Given the description of an element on the screen output the (x, y) to click on. 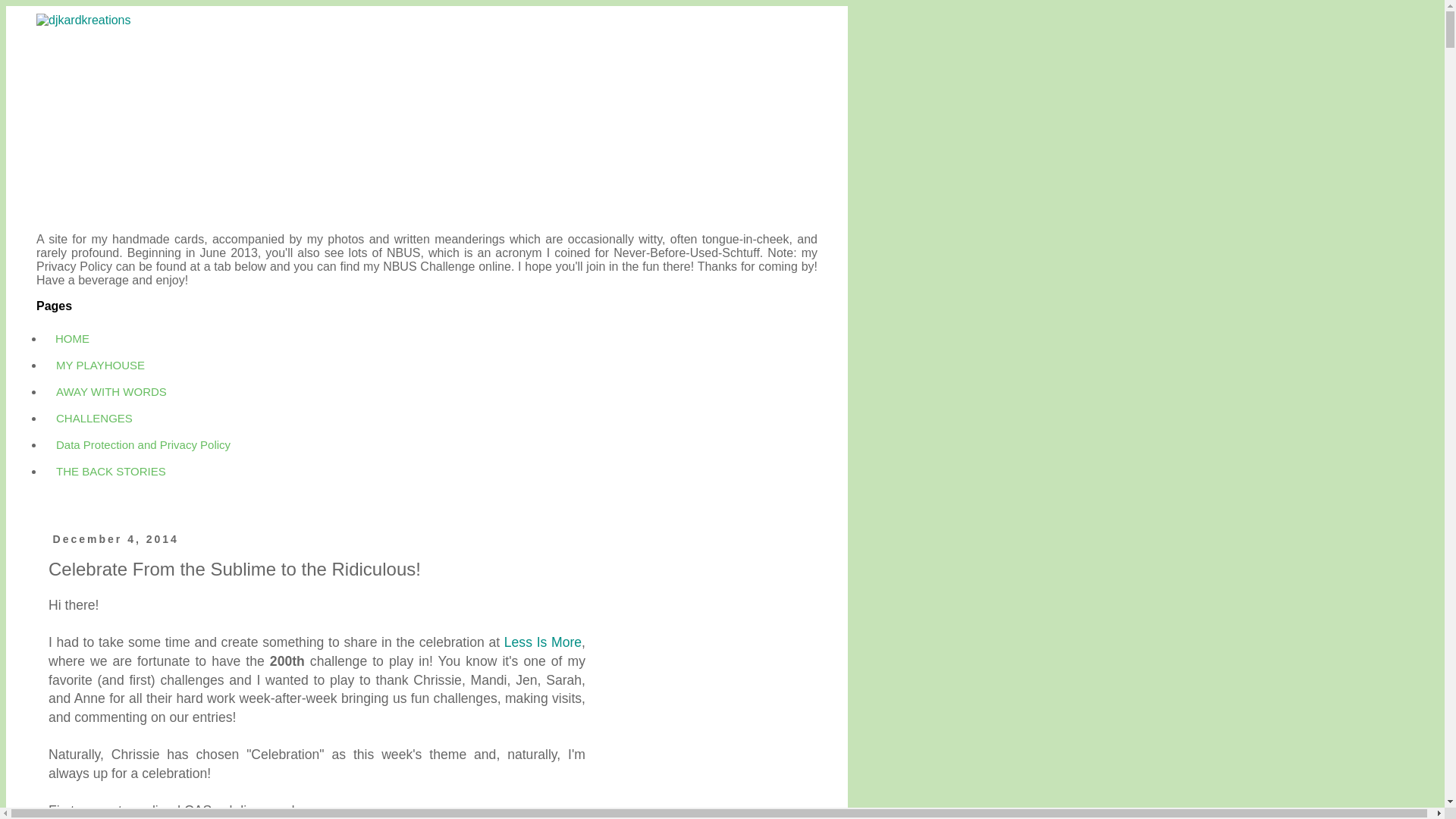
AWAY WITH WORDS (111, 391)
CHALLENGES (93, 417)
THE BACK STORIES (110, 470)
MY PLAYHOUSE (100, 365)
Data Protection and Privacy Policy (143, 444)
HOME (72, 338)
Less Is More (541, 642)
